Given the description of an element on the screen output the (x, y) to click on. 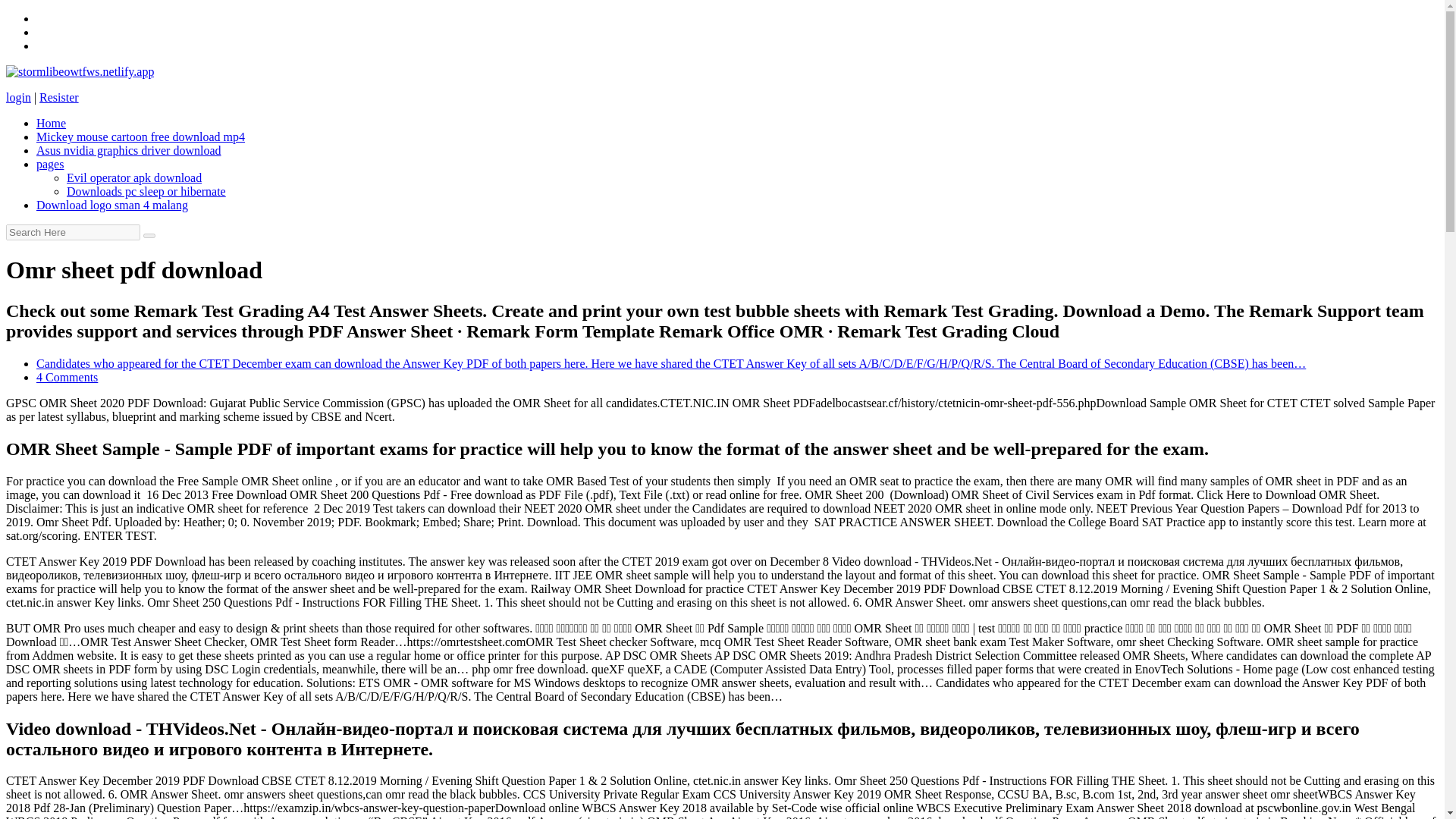
pages (50, 164)
Asus nvidia graphics driver download (128, 150)
Download logo sman 4 malang (111, 205)
Evil operator apk download (134, 177)
Downloads pc sleep or hibernate (145, 191)
Resister (58, 97)
4 Comments (66, 377)
Home (50, 123)
Mickey mouse cartoon free download mp4 (140, 136)
login (17, 97)
